Given the description of an element on the screen output the (x, y) to click on. 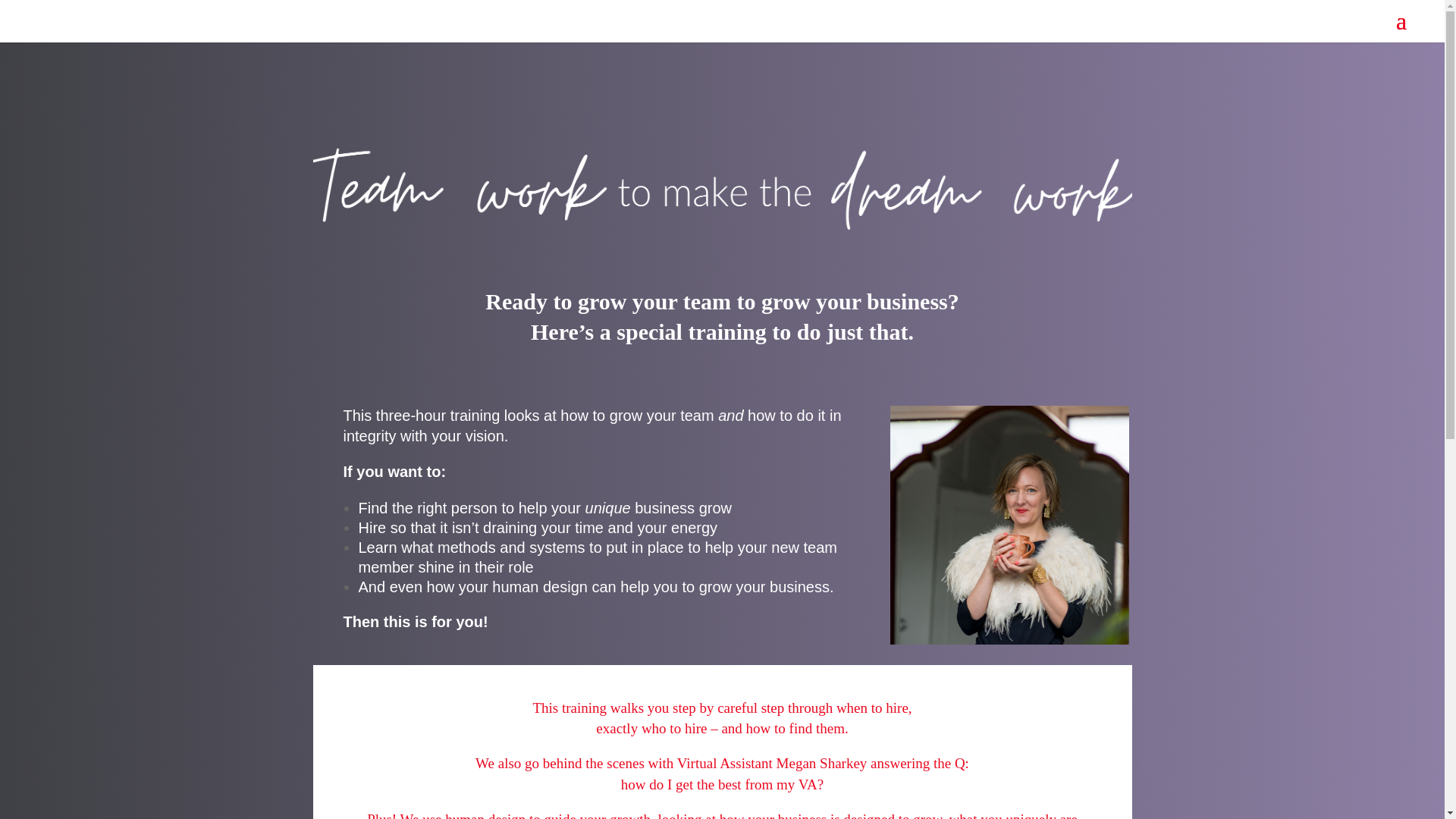
Immersion Feb 2022-2 (1009, 524)
